Given the description of an element on the screen output the (x, y) to click on. 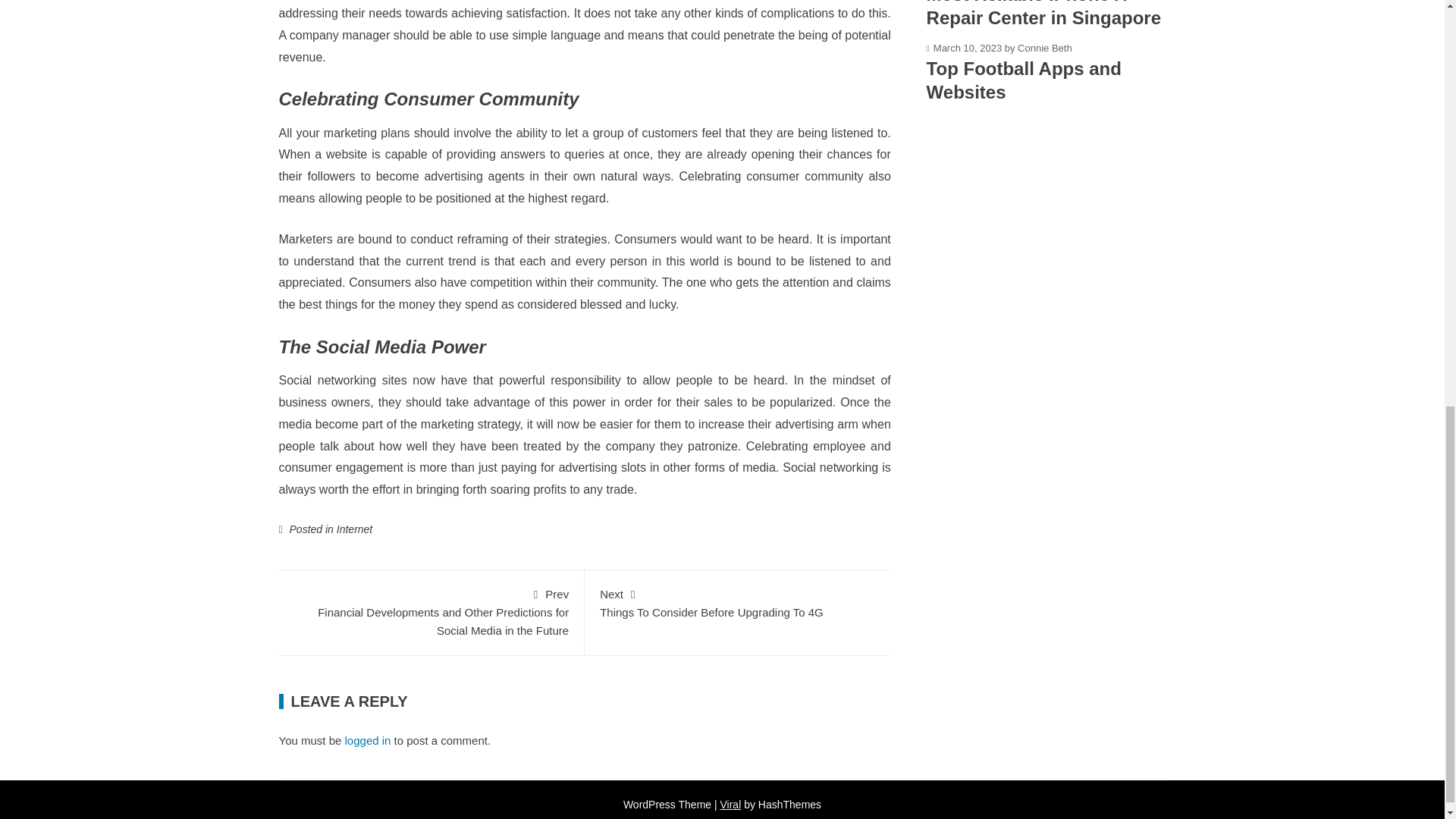
Most Reliable iPhone X Repair Center in Singapore (1043, 13)
Internet (354, 529)
Download Viral (730, 804)
Top Football Apps and Websites (1023, 80)
logged in (737, 602)
Viral (368, 739)
